Given the description of an element on the screen output the (x, y) to click on. 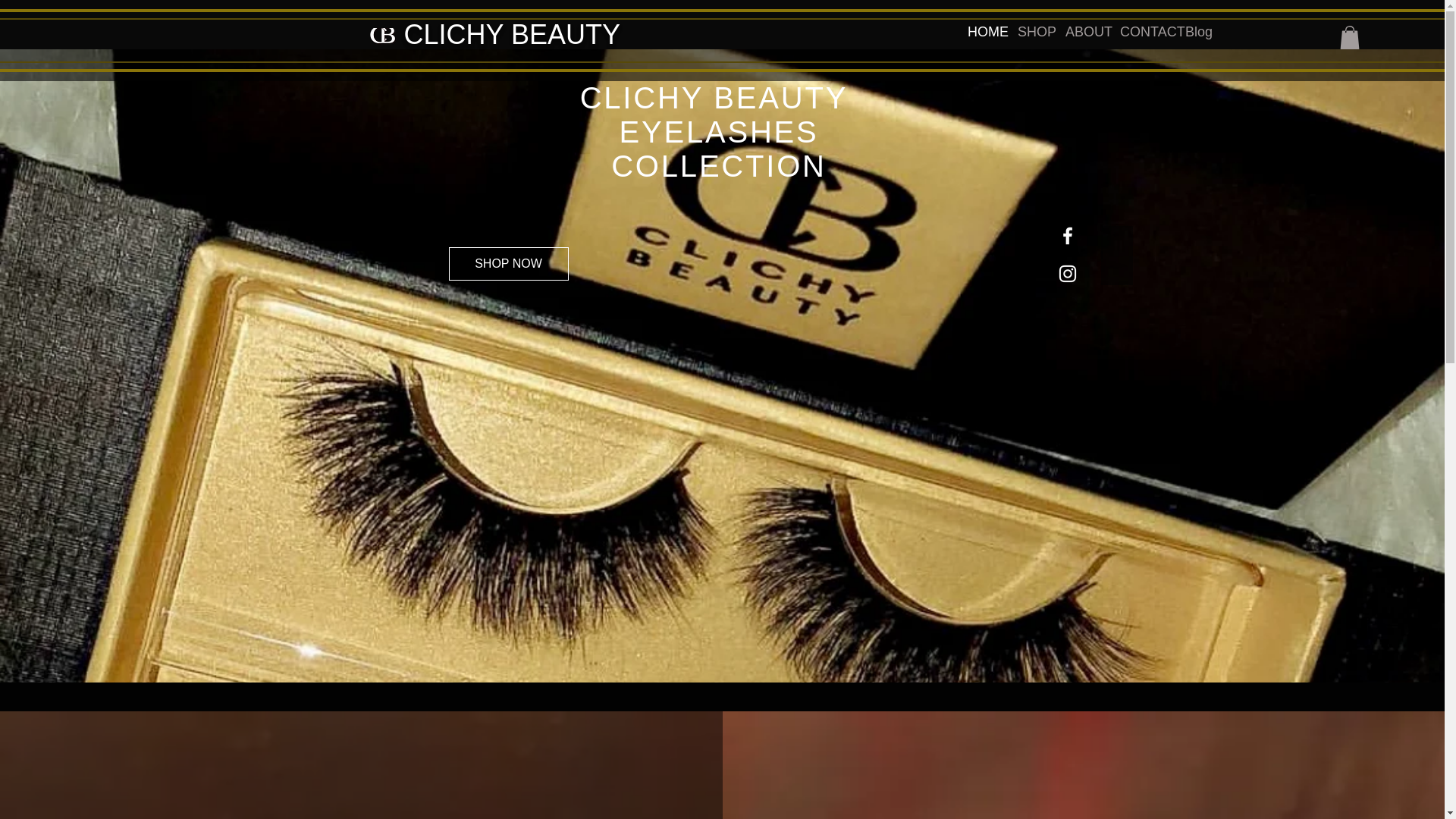
CLICHY BEAUTY (511, 33)
Blog (1195, 32)
SHOP (1030, 32)
ABOUT (1081, 32)
SHOP NOW (508, 263)
CONTACT (1140, 32)
HOME (981, 32)
